Given the description of an element on the screen output the (x, y) to click on. 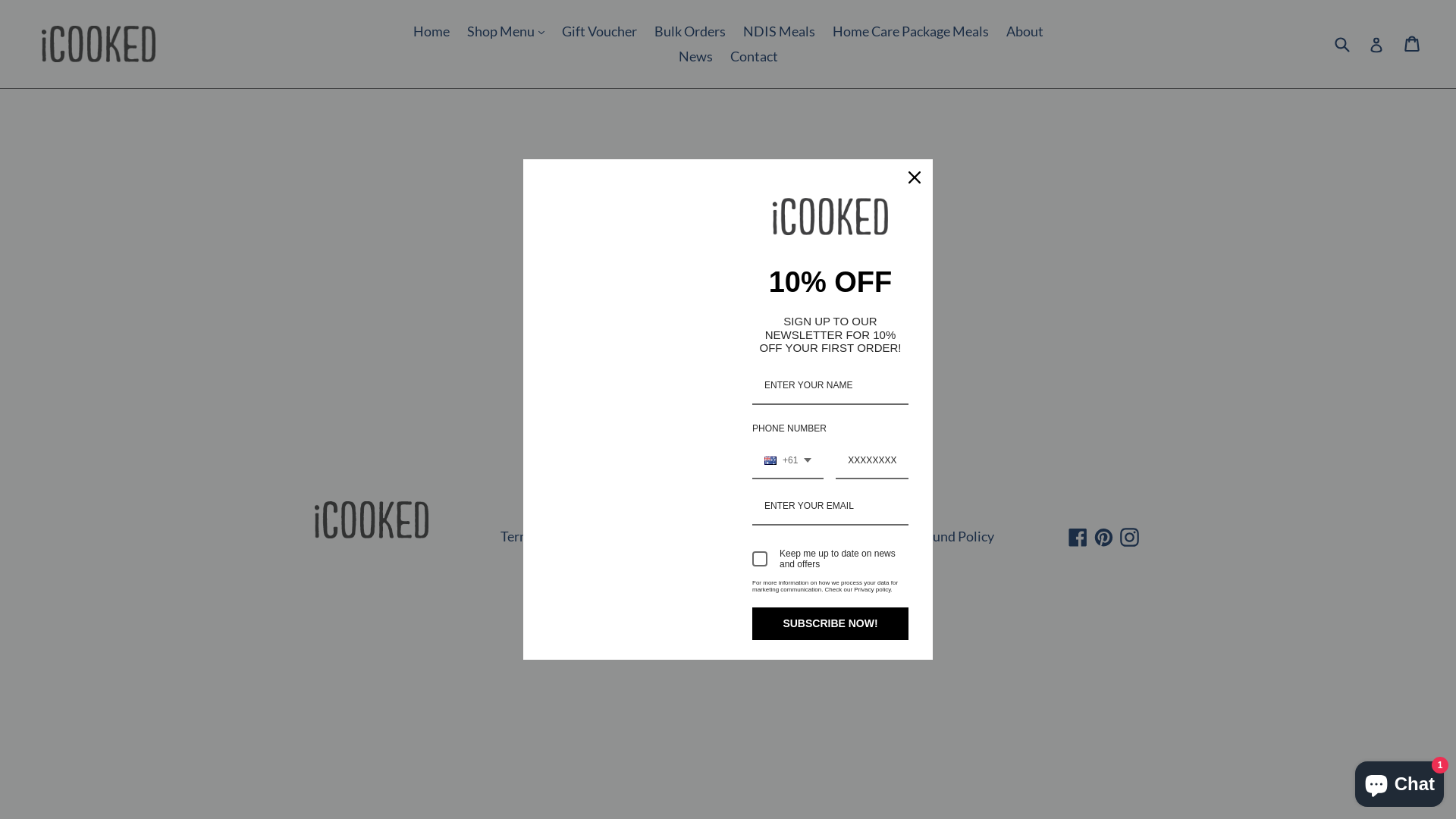
Facebook Element type: text (1077, 535)
About Element type: text (1023, 30)
Dignity Policy (NDIS) Element type: text (717, 535)
CONTINUE SHOPPING Element type: text (728, 324)
Shopify online store chat Element type: hover (1399, 780)
Home Care Package Meals Element type: text (910, 30)
News Element type: text (694, 56)
Home Element type: text (430, 30)
Submit Element type: text (1341, 43)
Pinterest Element type: text (1103, 535)
Instagram Element type: text (1129, 535)
Log in Element type: text (1375, 43)
Cart
Cart Element type: text (1412, 43)
Contact Element type: text (752, 56)
Terms Element type: text (518, 535)
Terms of Service Element type: text (846, 535)
Privacy Policy Element type: text (595, 535)
NDIS Meals Element type: text (778, 30)
Refund Policy Element type: text (953, 535)
Bulk Orders Element type: text (689, 30)
Gift Voucher Element type: text (598, 30)
